Given the description of an element on the screen output the (x, y) to click on. 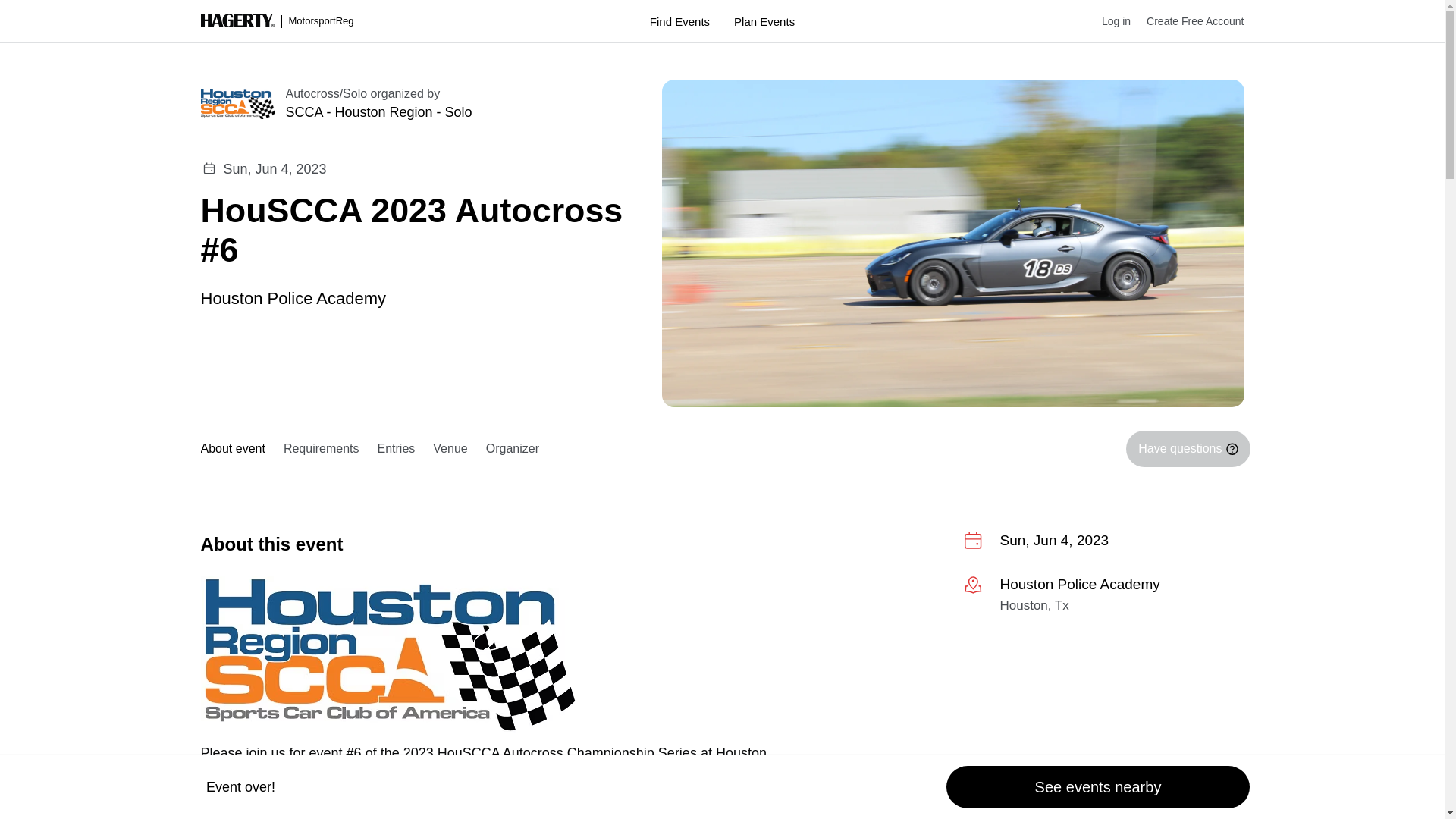
More info (1102, 597)
Have questions (1187, 448)
Find Events (679, 21)
Venue (449, 449)
Create Free Account (1187, 21)
Organizer (512, 449)
SCCA - Houston Region - Solo (454, 112)
Entries (396, 449)
Requirements (321, 449)
Houston Police Academy (292, 296)
